Given the description of an element on the screen output the (x, y) to click on. 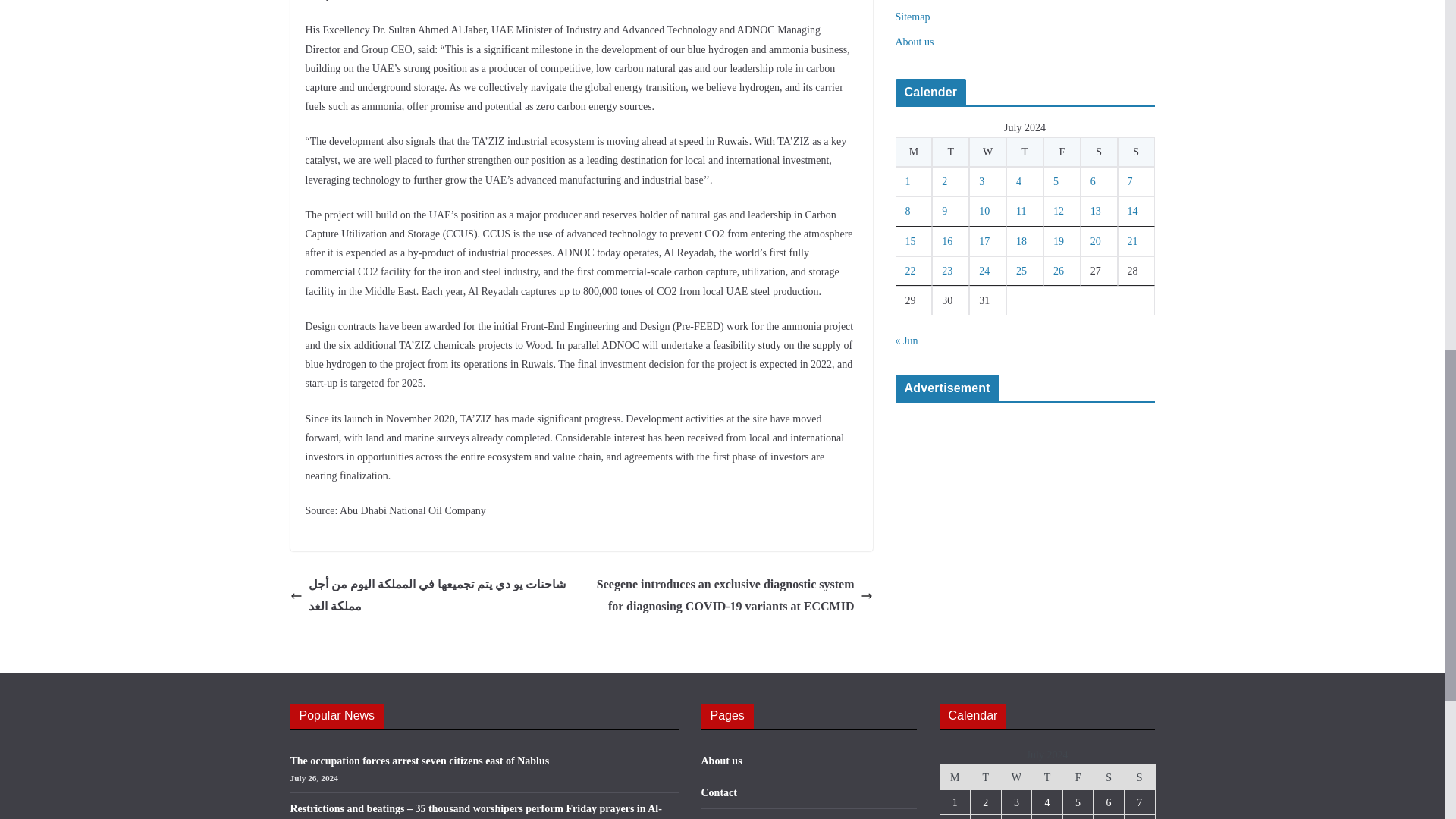
Thursday (1024, 152)
Sitemap (912, 16)
Tuesday (950, 152)
Monday (955, 777)
Wednesday (987, 152)
Monday (913, 152)
Friday (1077, 777)
Tuesday (986, 777)
Thursday (1047, 777)
Friday (1061, 152)
Saturday (1099, 152)
Sunday (1136, 152)
Wednesday (1016, 777)
About us (914, 41)
